Given the description of an element on the screen output the (x, y) to click on. 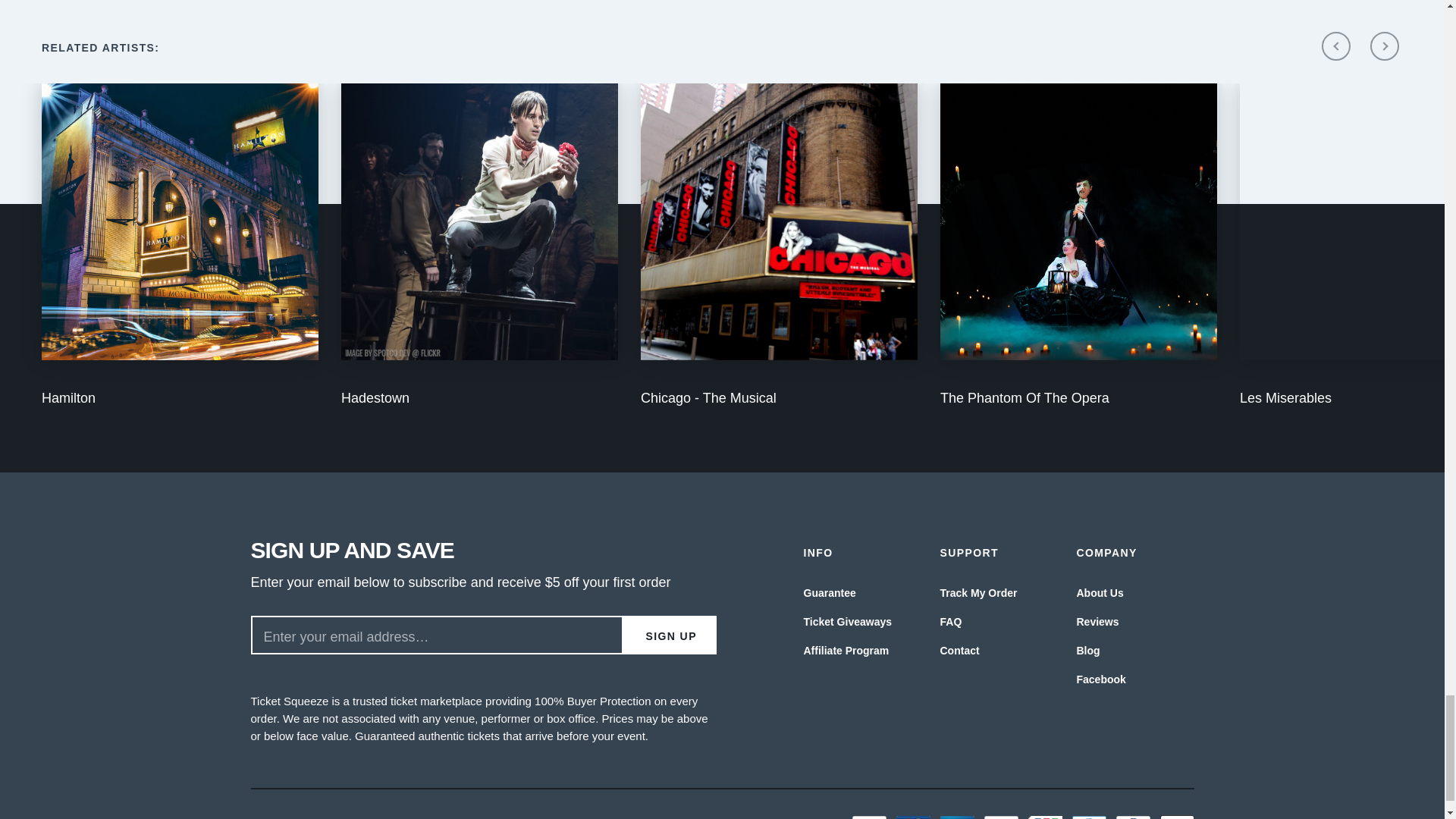
SIGN UP (669, 634)
